Given the description of an element on the screen output the (x, y) to click on. 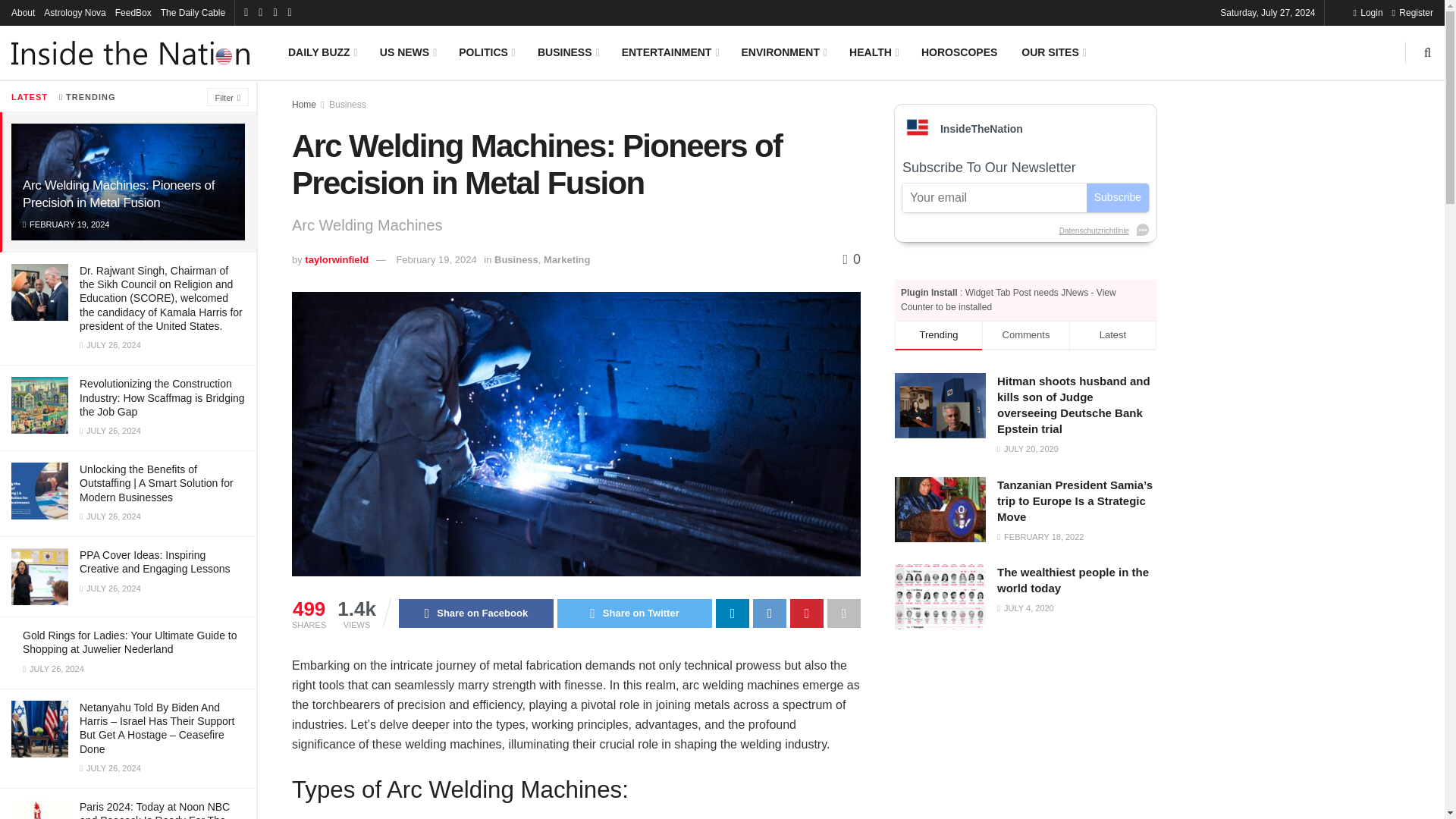
About (22, 12)
Arc Welding Machines: Pioneers of Precision in Metal Fusion (118, 193)
PPA Cover Ideas: Inspiring Creative and Engaging Lessons (155, 561)
Astrology Nova (73, 12)
Filter (227, 96)
FeedBox (133, 12)
The Daily Cable (192, 12)
